Given the description of an element on the screen output the (x, y) to click on. 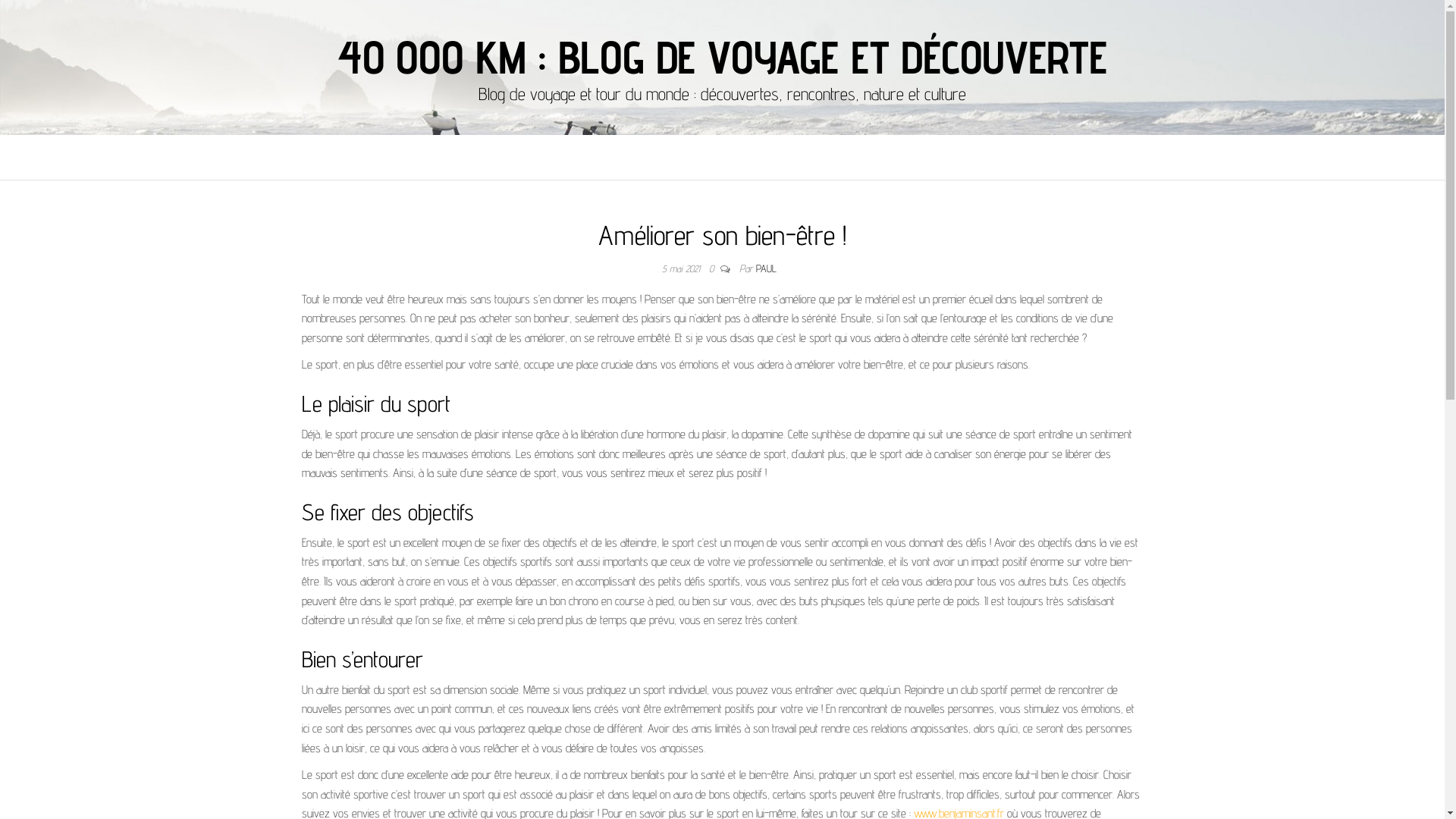
0 Element type: text (714, 268)
PAUL Element type: text (766, 268)
